Given the description of an element on the screen output the (x, y) to click on. 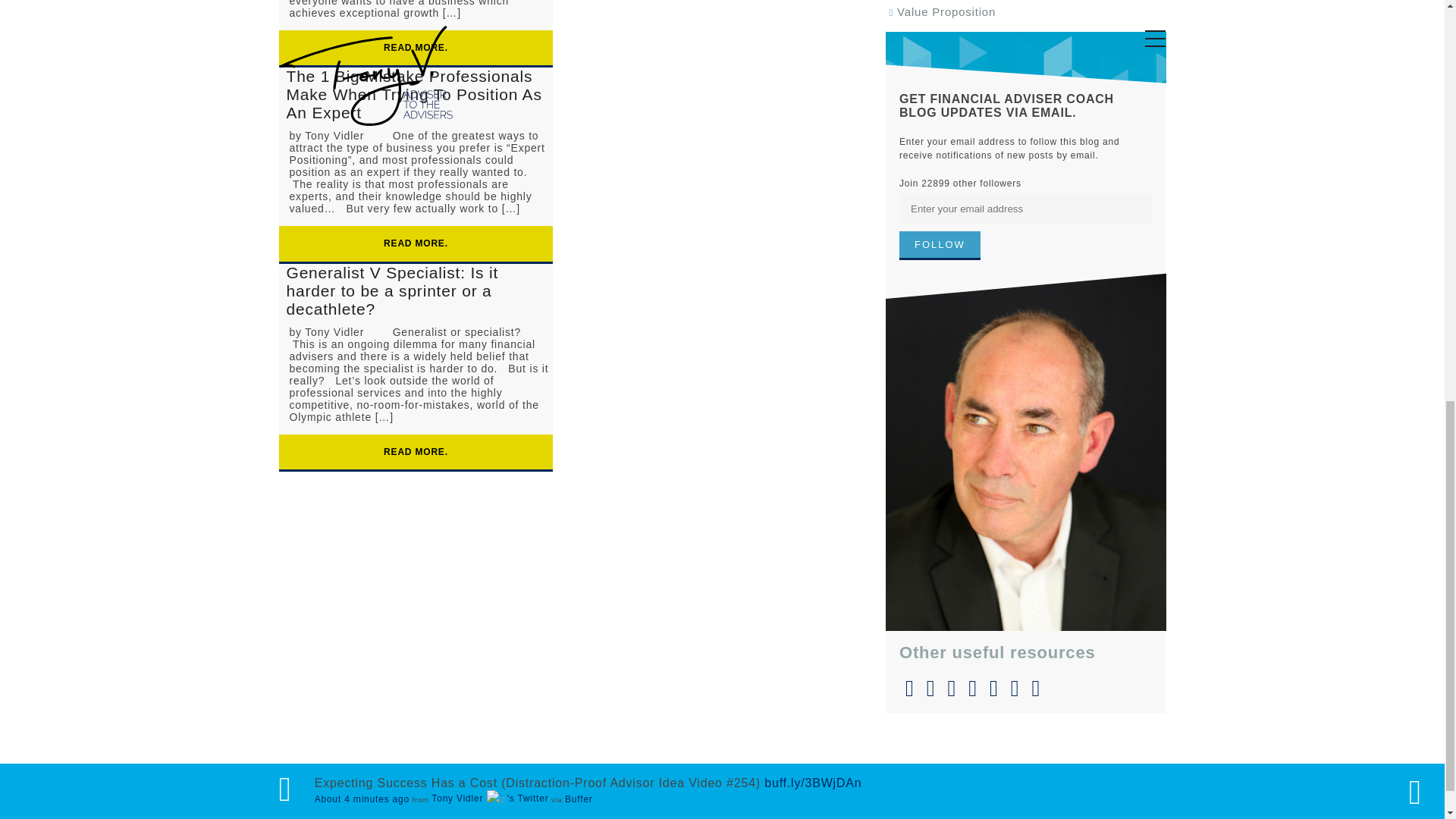
Value Proposition (945, 11)
FOLLOW (939, 245)
FOLLOW (939, 245)
Enter your email address (1025, 208)
